Given the description of an element on the screen output the (x, y) to click on. 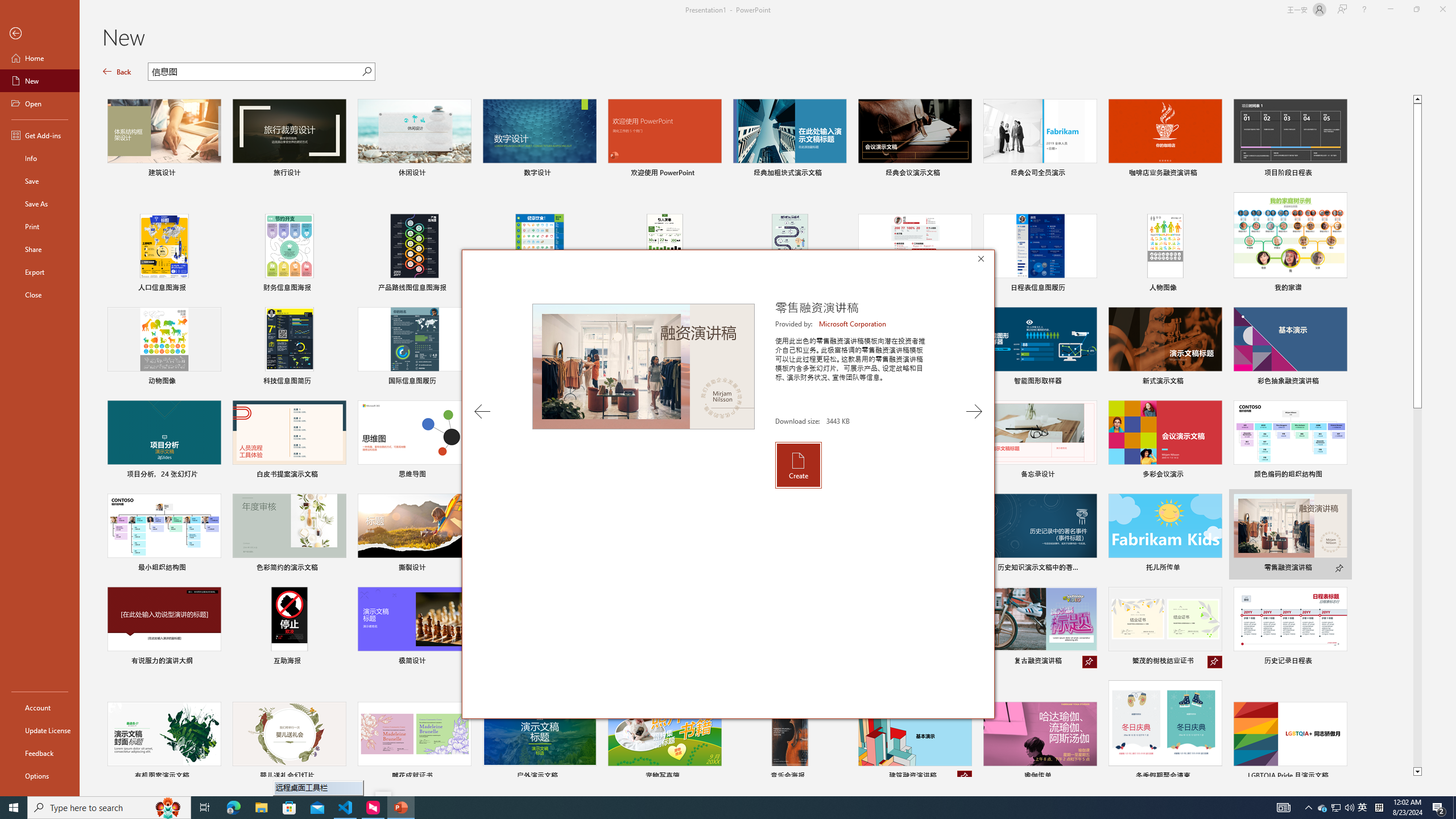
Start searching (366, 71)
Back (40, 33)
Account (40, 707)
